Given the description of an element on the screen output the (x, y) to click on. 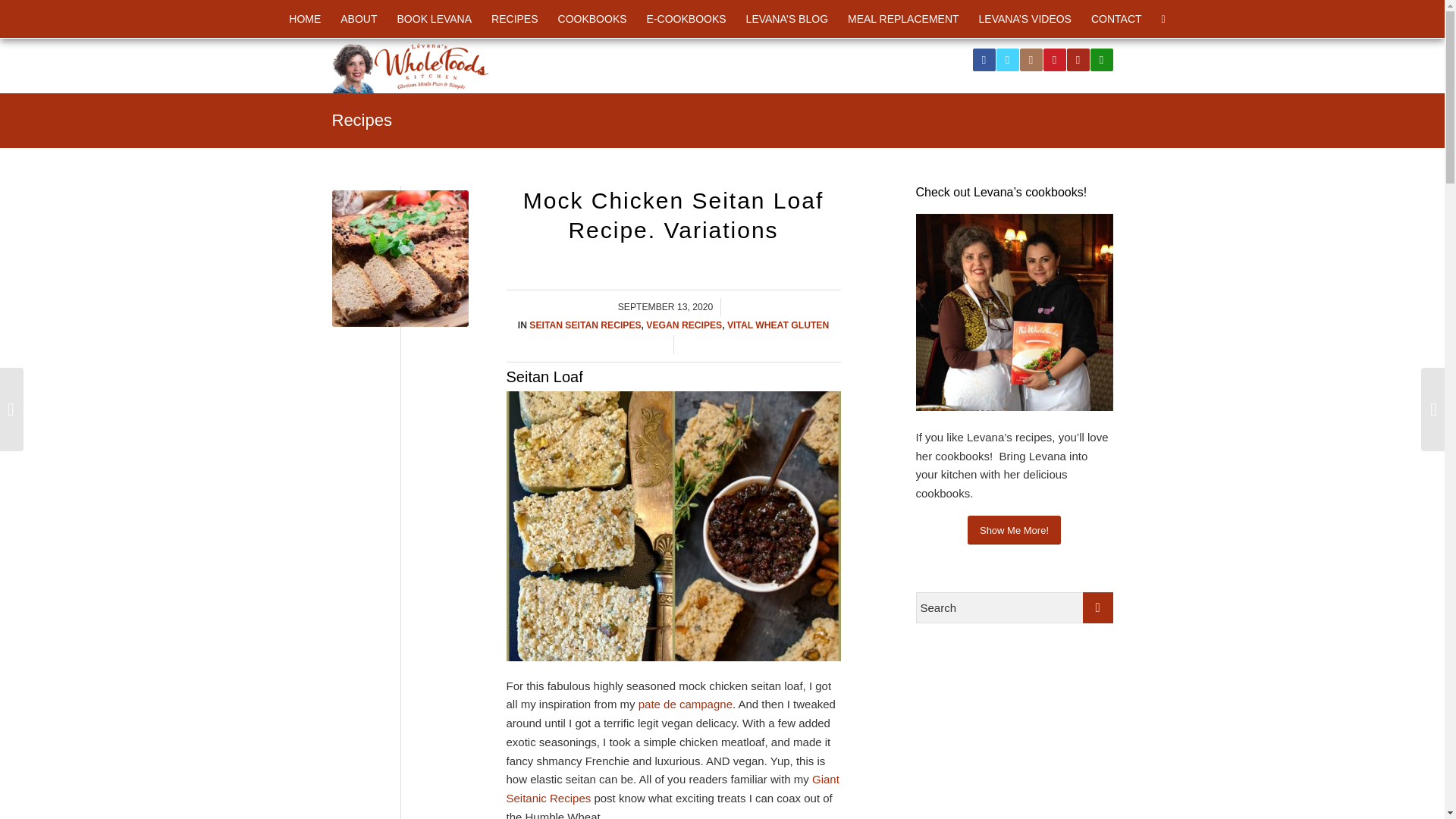
HOME (304, 18)
Mail (1101, 59)
COOKBOOKS (592, 18)
RECIPES (514, 18)
ABOUT (358, 18)
Youtube (1077, 59)
Instagram (1030, 59)
Twitter (1007, 59)
Pinterest (1054, 59)
E-COOKBOOKS (686, 18)
MEAL REPLACEMENT (903, 18)
Permanent Link: Recipes (361, 119)
Facebook (983, 59)
BOOK LEVANA (434, 18)
CONTACT (1116, 18)
